Given the description of an element on the screen output the (x, y) to click on. 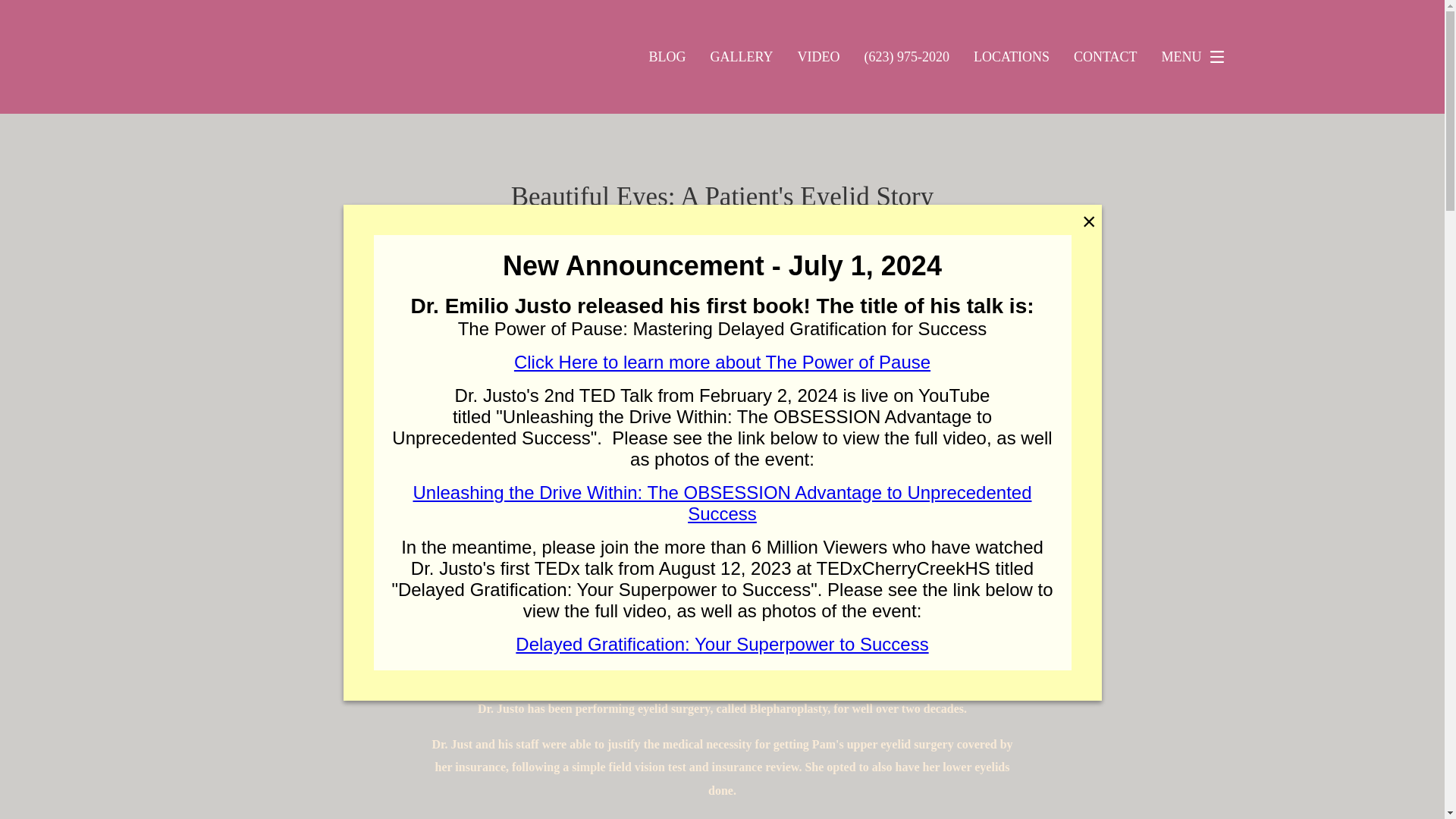
MENU (1196, 56)
Click Here to learn more about The Power of Pause (721, 362)
GALLERY (741, 56)
VIDEO (818, 56)
Delayed Gratification: Your Superpower to Success (721, 643)
LOCATIONS (1011, 56)
CONTACT (1105, 56)
